Given the description of an element on the screen output the (x, y) to click on. 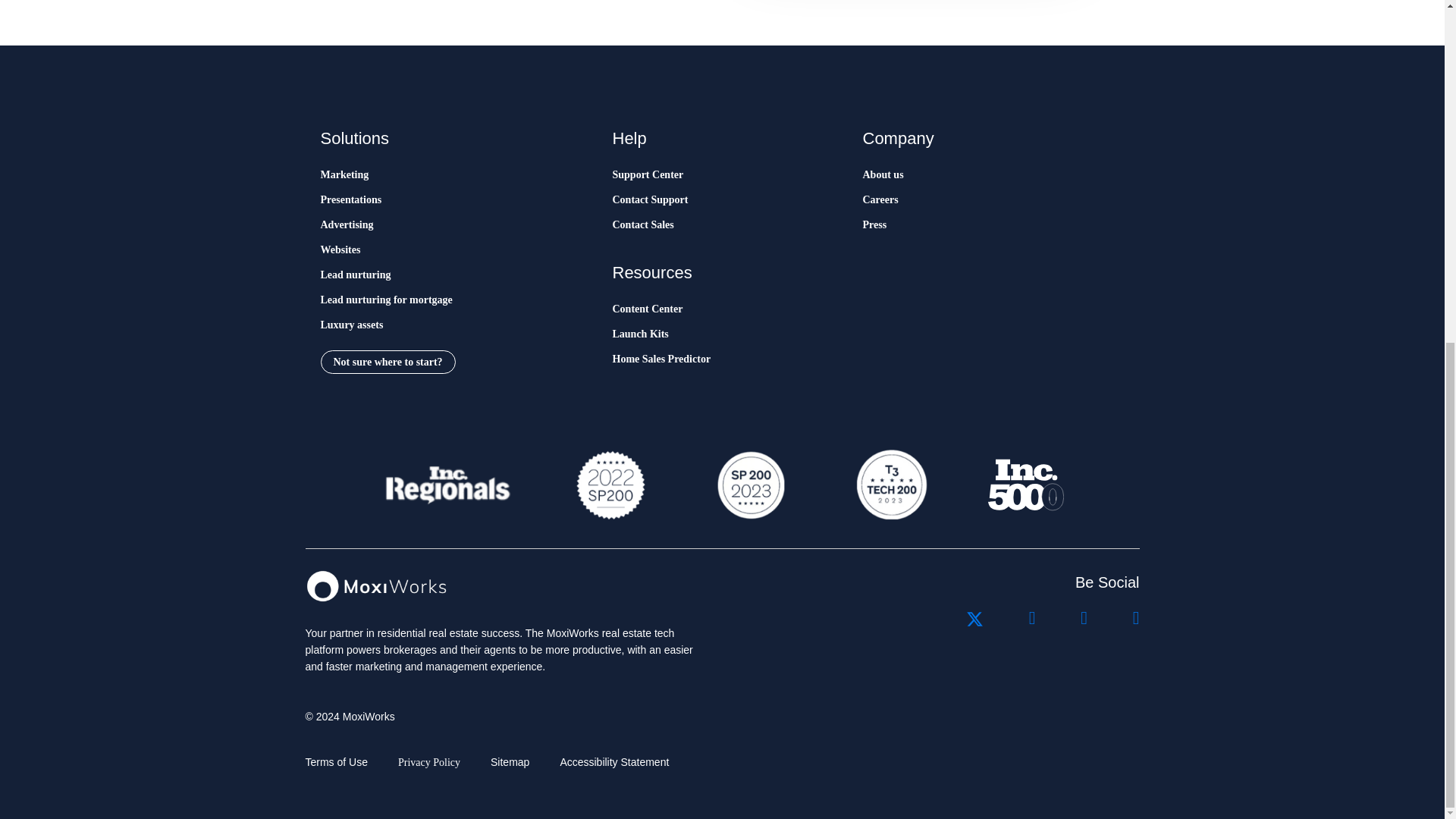
SP 2022 (610, 484)
SP 2023 (749, 484)
T3 tech 200 2023 (890, 484)
